Given the description of an element on the screen output the (x, y) to click on. 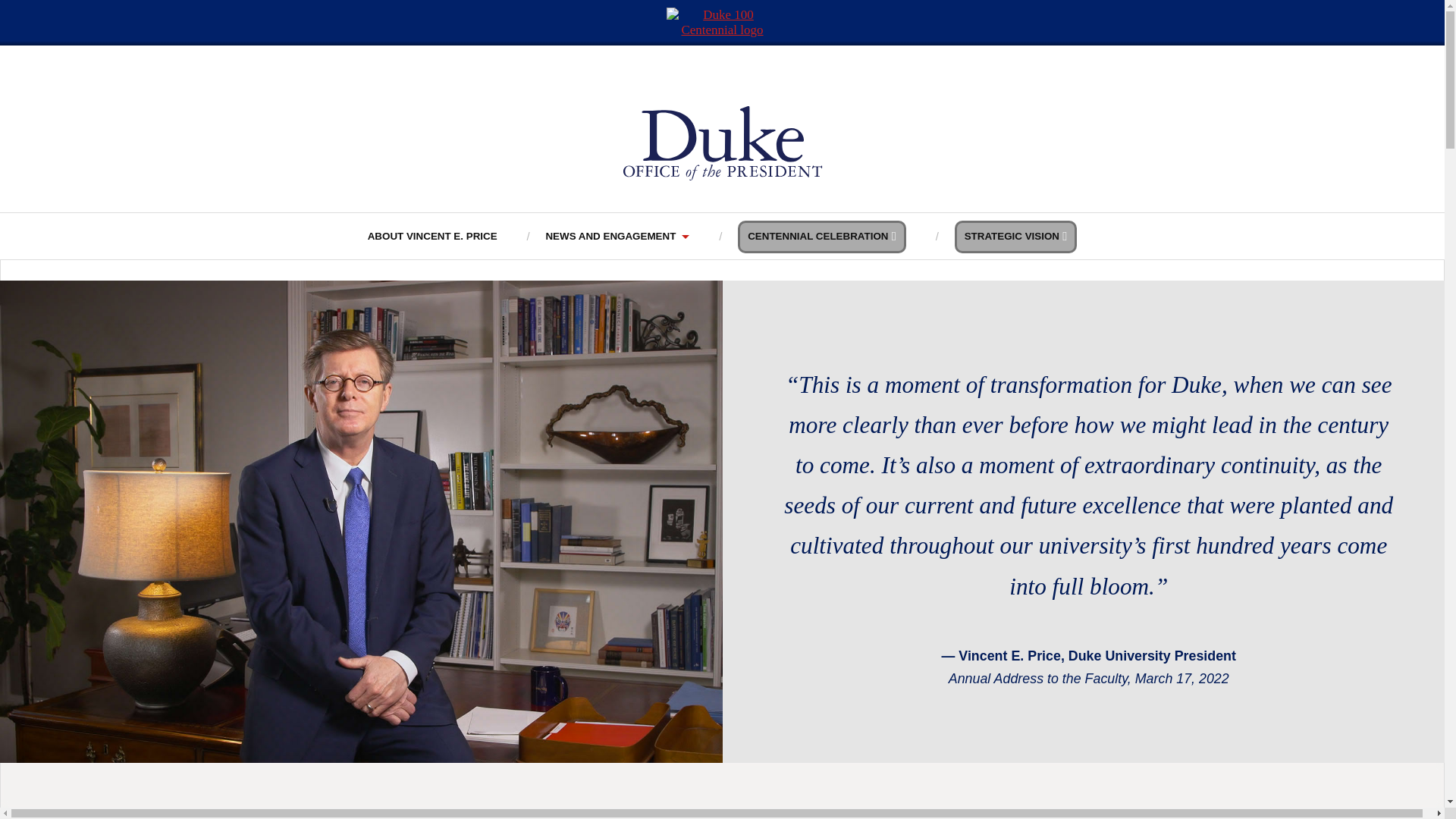
NEWS AND ENGAGEMENT (616, 235)
CENTENNIAL CELEBRATION (821, 236)
STRATEGIC VISION (1016, 236)
ABOUT VINCENT E. PRICE (432, 235)
